Given the description of an element on the screen output the (x, y) to click on. 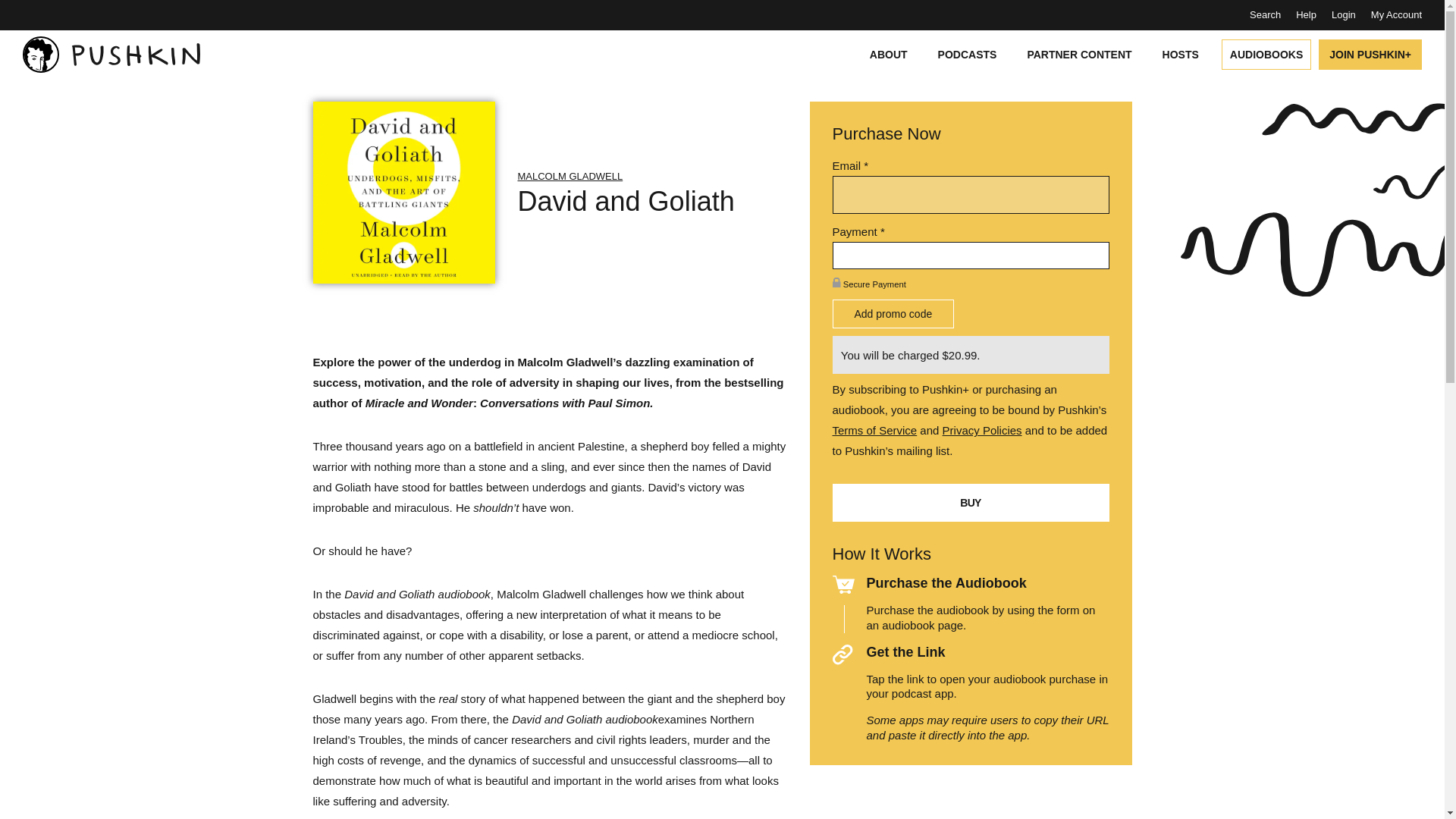
Secure payment input frame (970, 255)
HOSTS (1180, 54)
ABOUT (888, 54)
AUDIOBOOKS (1262, 54)
Help (1305, 14)
Login (1343, 14)
Search (1265, 14)
Terms of Service (874, 430)
homepage (111, 54)
Privacy Policies (982, 430)
